Given the description of an element on the screen output the (x, y) to click on. 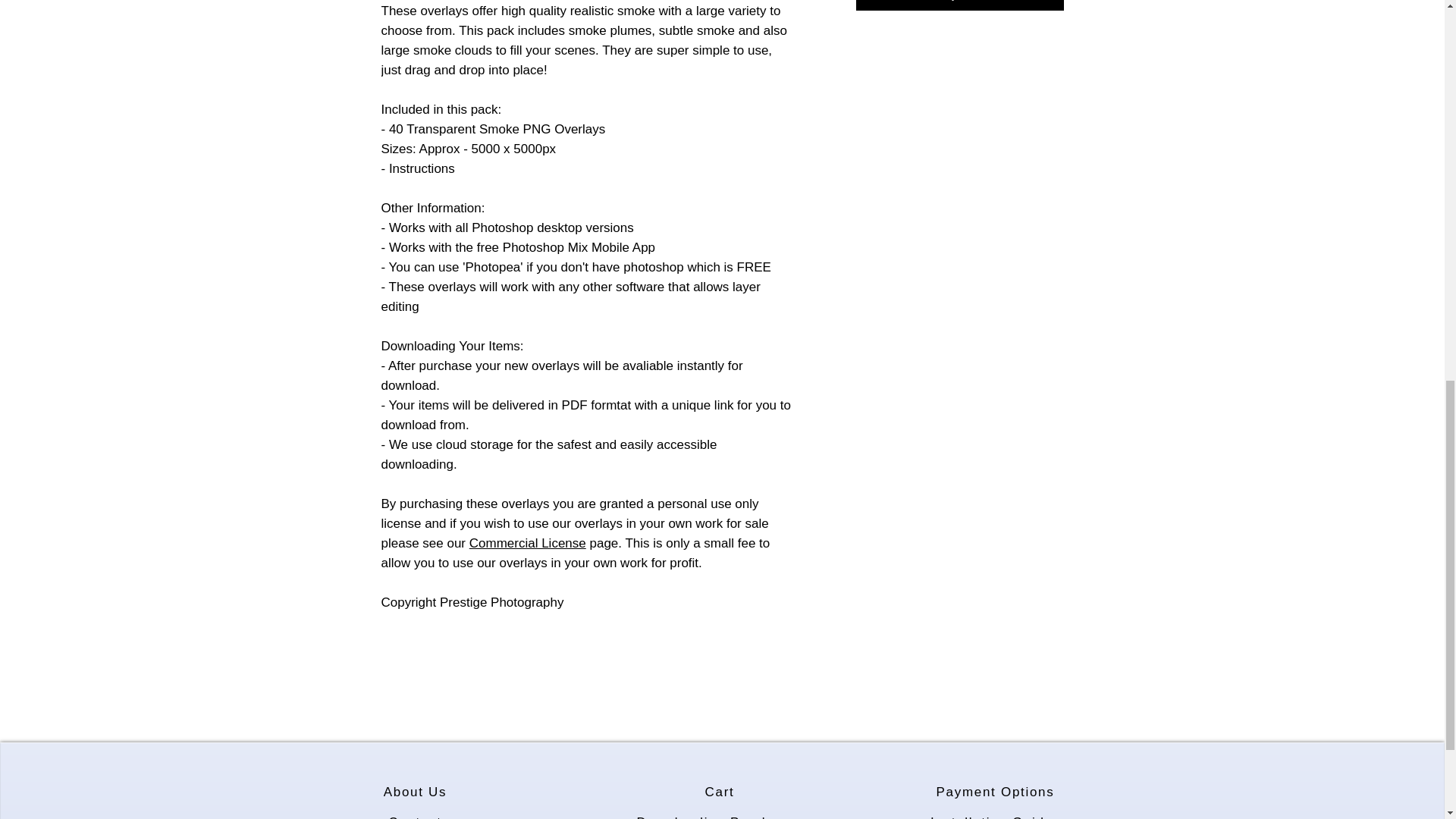
Buy Now (959, 5)
Contact (416, 813)
Downloading Purchases (720, 813)
Installation Guides (996, 813)
Payment Options (995, 792)
About Us (416, 792)
Commercial License (527, 543)
Cart (720, 792)
